Given the description of an element on the screen output the (x, y) to click on. 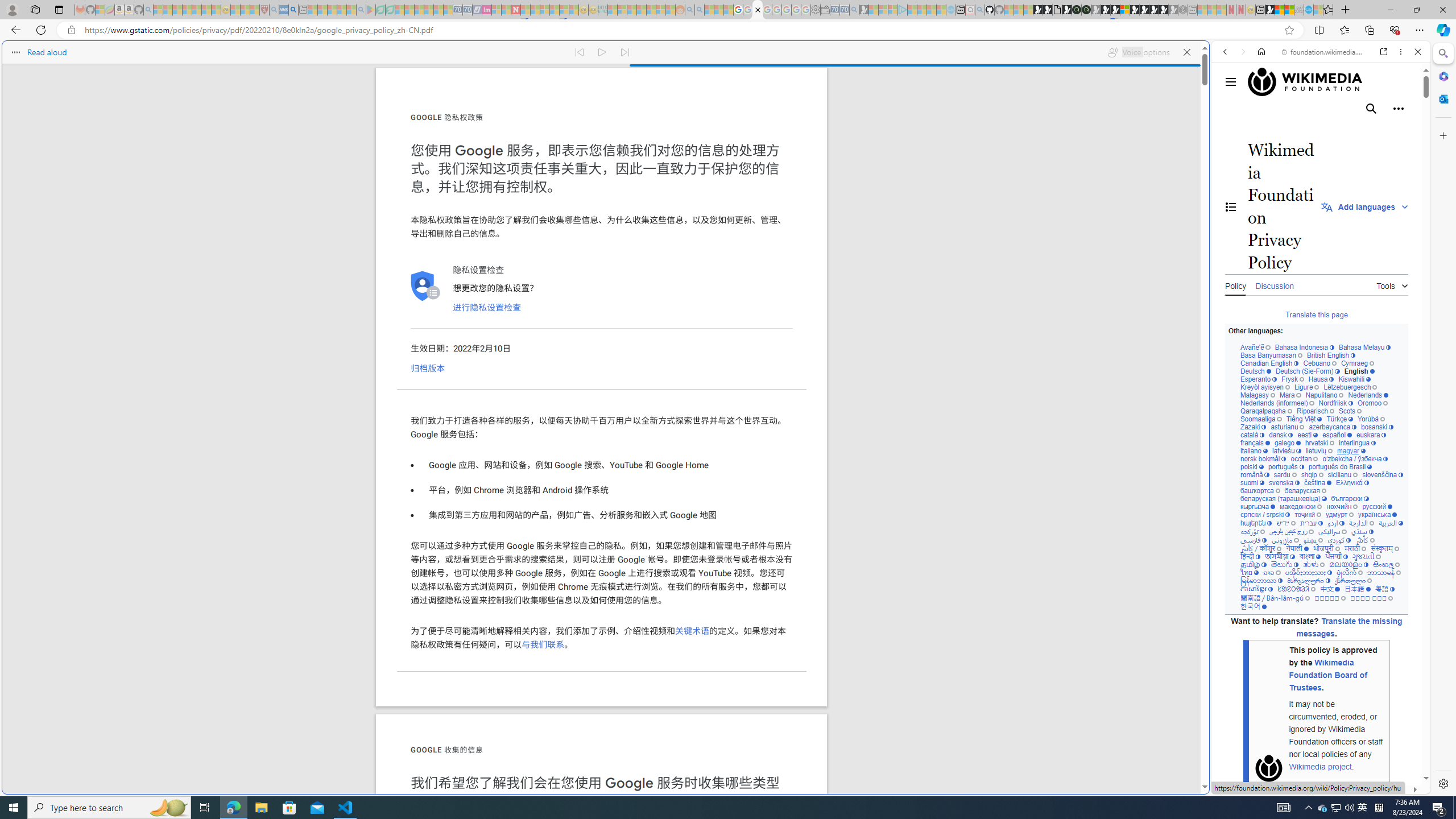
Nordfriisk (1334, 403)
Malagasy (1257, 395)
Deutsch (1255, 371)
asturianu (1287, 427)
Translate this page (1316, 314)
Scots (1350, 411)
